Given the description of an element on the screen output the (x, y) to click on. 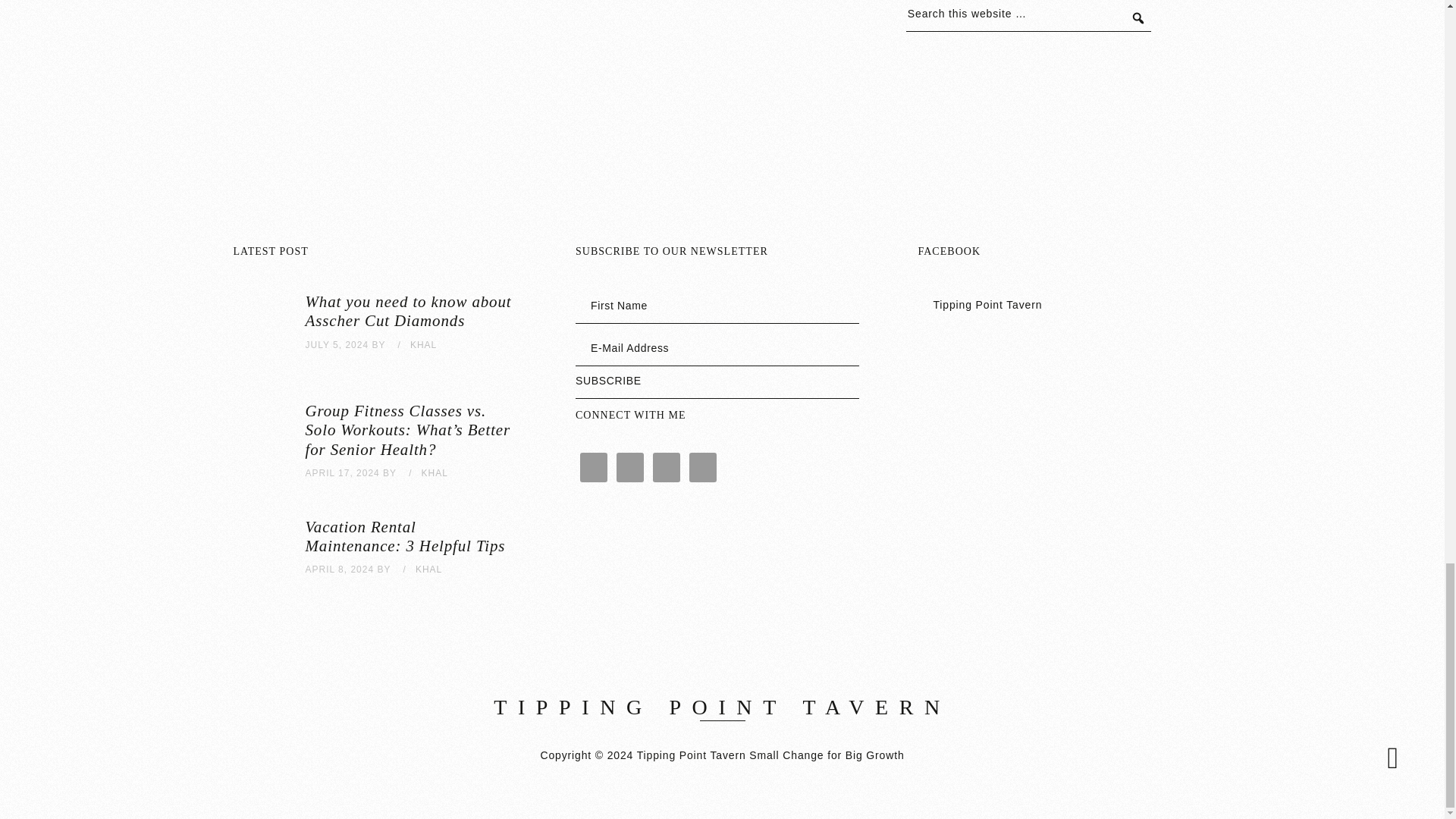
Subscribe (717, 385)
KHAL (423, 344)
What you need to know about Asscher Cut Diamonds (407, 311)
